Given the description of an element on the screen output the (x, y) to click on. 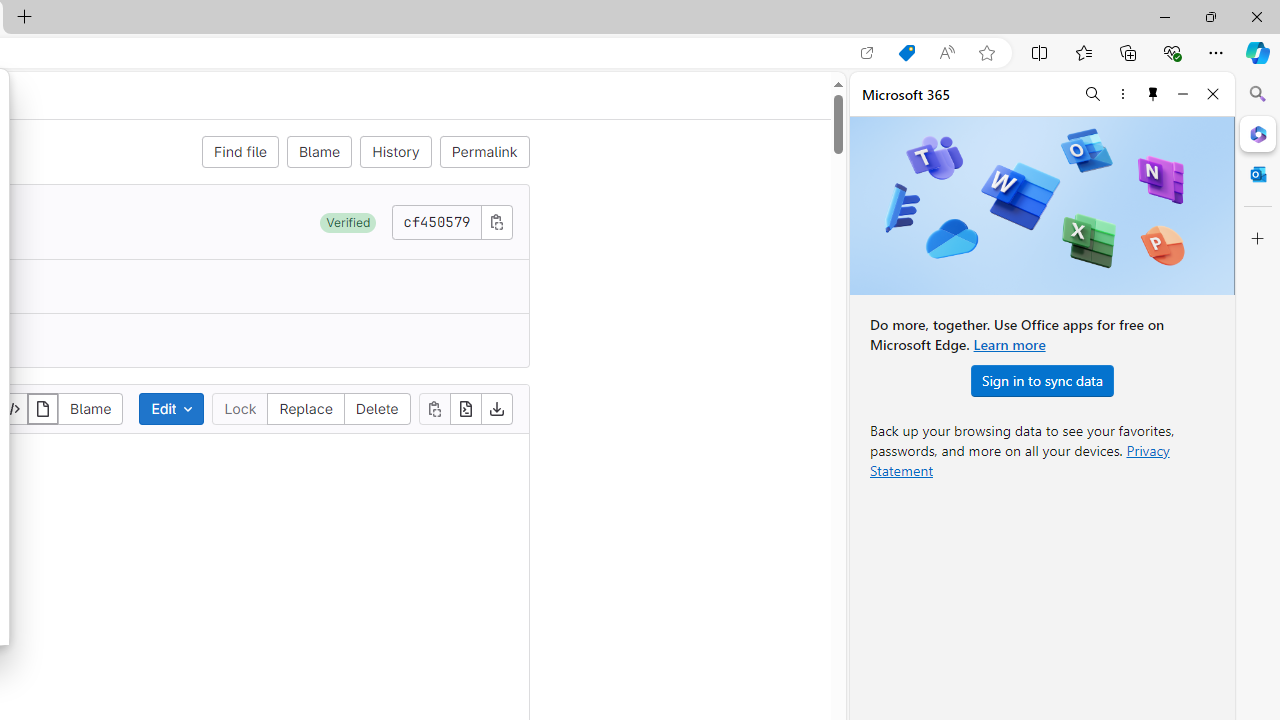
Verified (348, 221)
Customize (1258, 239)
Permalink (484, 151)
Search (1258, 94)
New Tab (24, 17)
Favorites (1083, 52)
Minimize (1182, 93)
Read aloud this page (Ctrl+Shift+U) (946, 53)
Add this page to favorites (Ctrl+D) (986, 53)
Delete (376, 408)
Find file (240, 151)
Close Outlook pane (1258, 174)
Replace (306, 408)
Close (1213, 93)
Settings and more (Alt+F) (1215, 52)
